Given the description of an element on the screen output the (x, y) to click on. 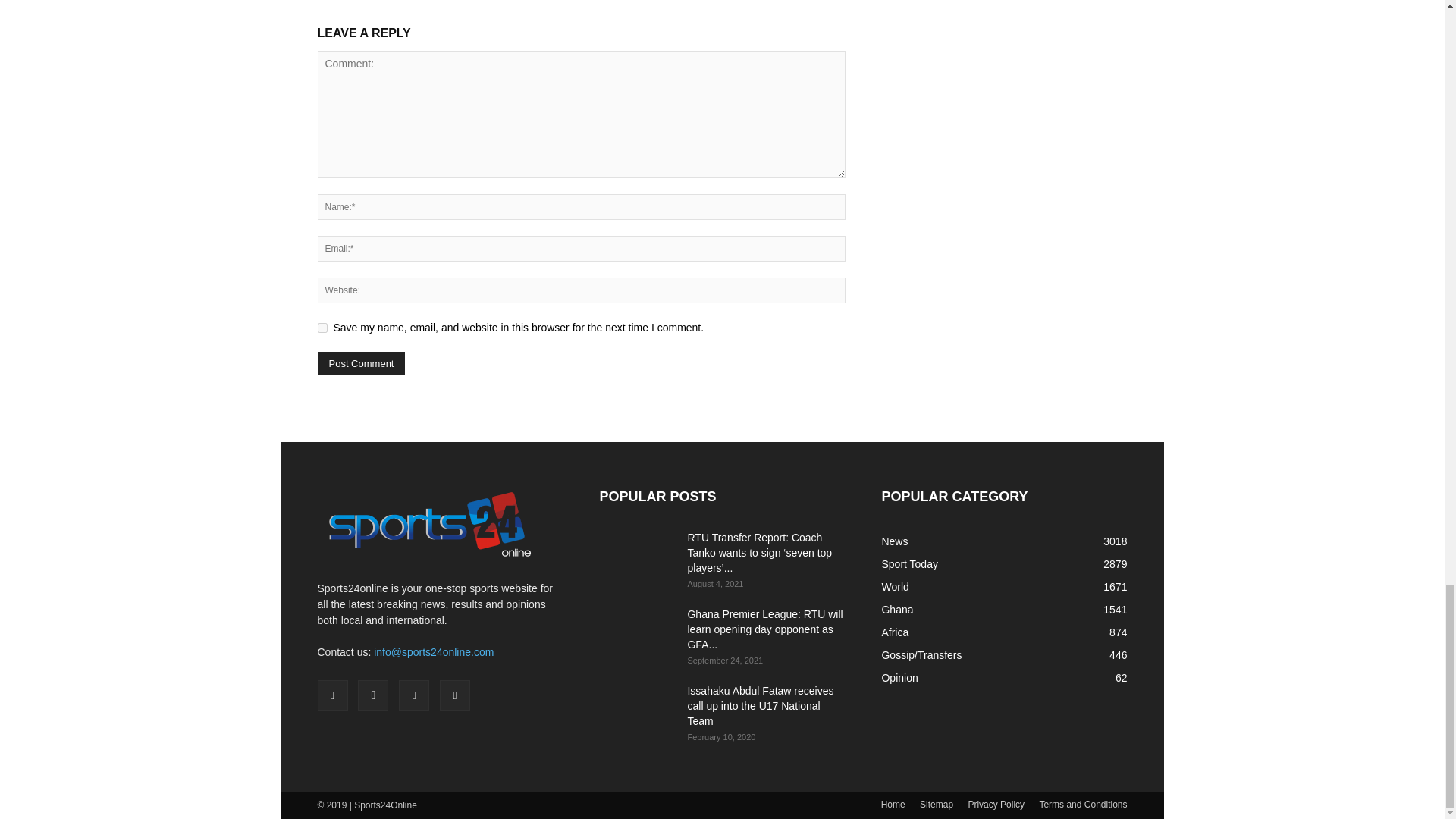
Post Comment (360, 363)
yes (321, 327)
